Given the description of an element on the screen output the (x, y) to click on. 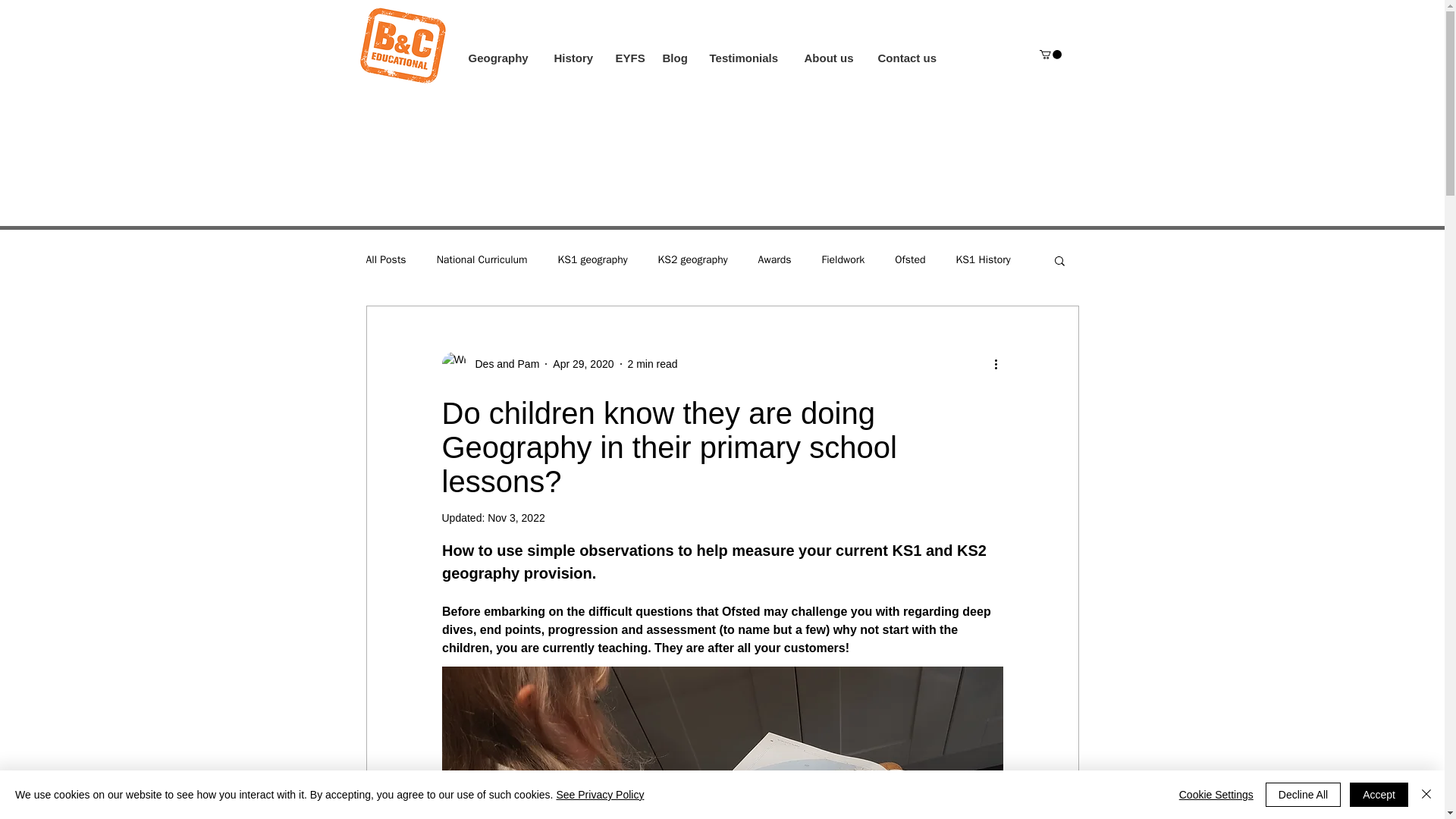
2 min read (652, 363)
National Curriculum (481, 259)
KS2 geography (693, 259)
Fieldwork (843, 259)
Contact us (909, 57)
KS1 History (983, 259)
Blog (673, 57)
Apr 29, 2020 (582, 363)
Testimonials (744, 57)
Nov 3, 2022 (515, 517)
